Given the description of an element on the screen output the (x, y) to click on. 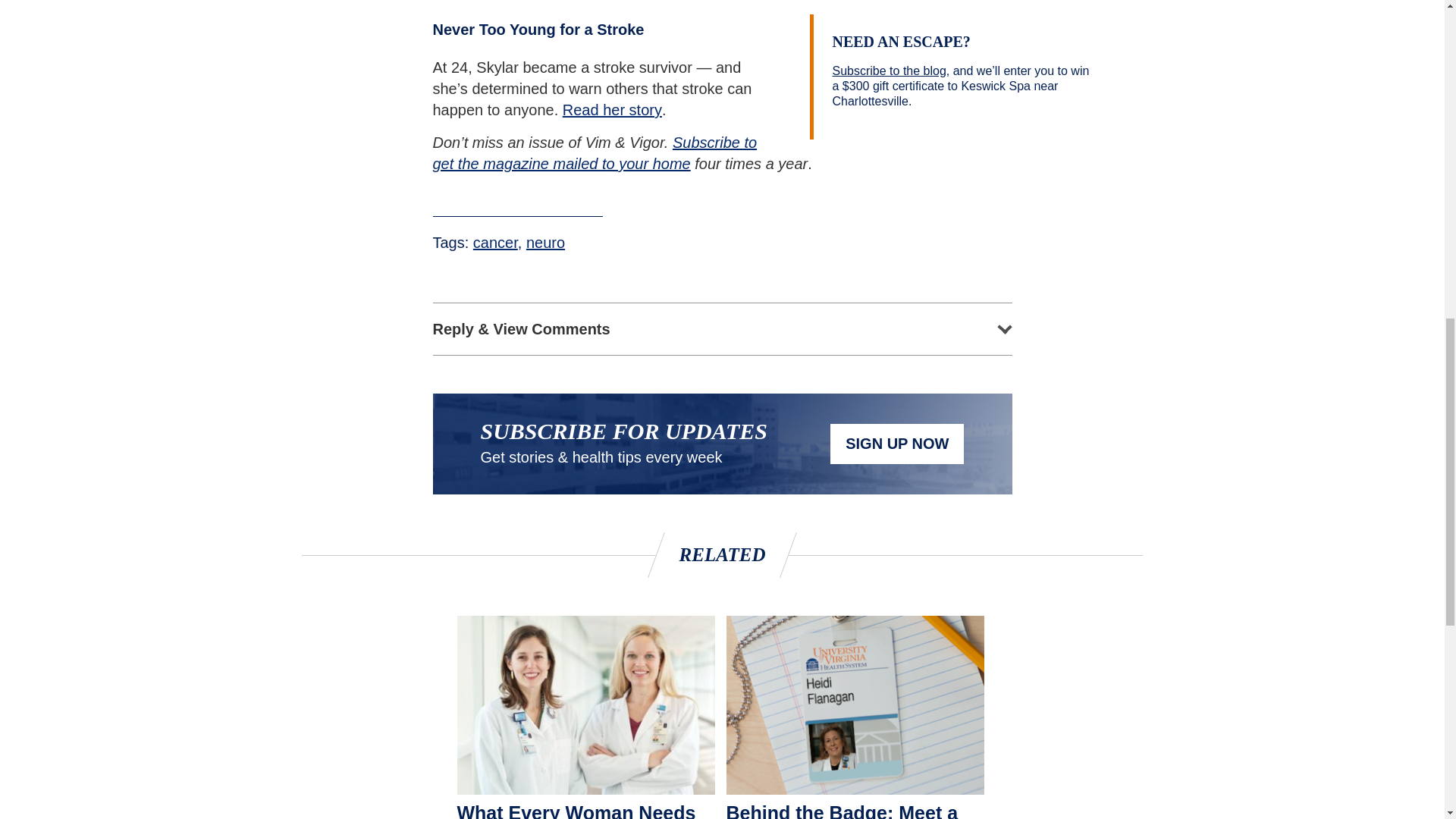
Read her story (612, 109)
cancer (495, 242)
Behind the Badge: Meet a UVA Lung Transplant Coordinator (855, 810)
Subscribe to the blog (889, 70)
Subscribe to get the magazine mailed to your home (594, 152)
SIGN UP NOW (896, 444)
neuro (544, 242)
